Given the description of an element on the screen output the (x, y) to click on. 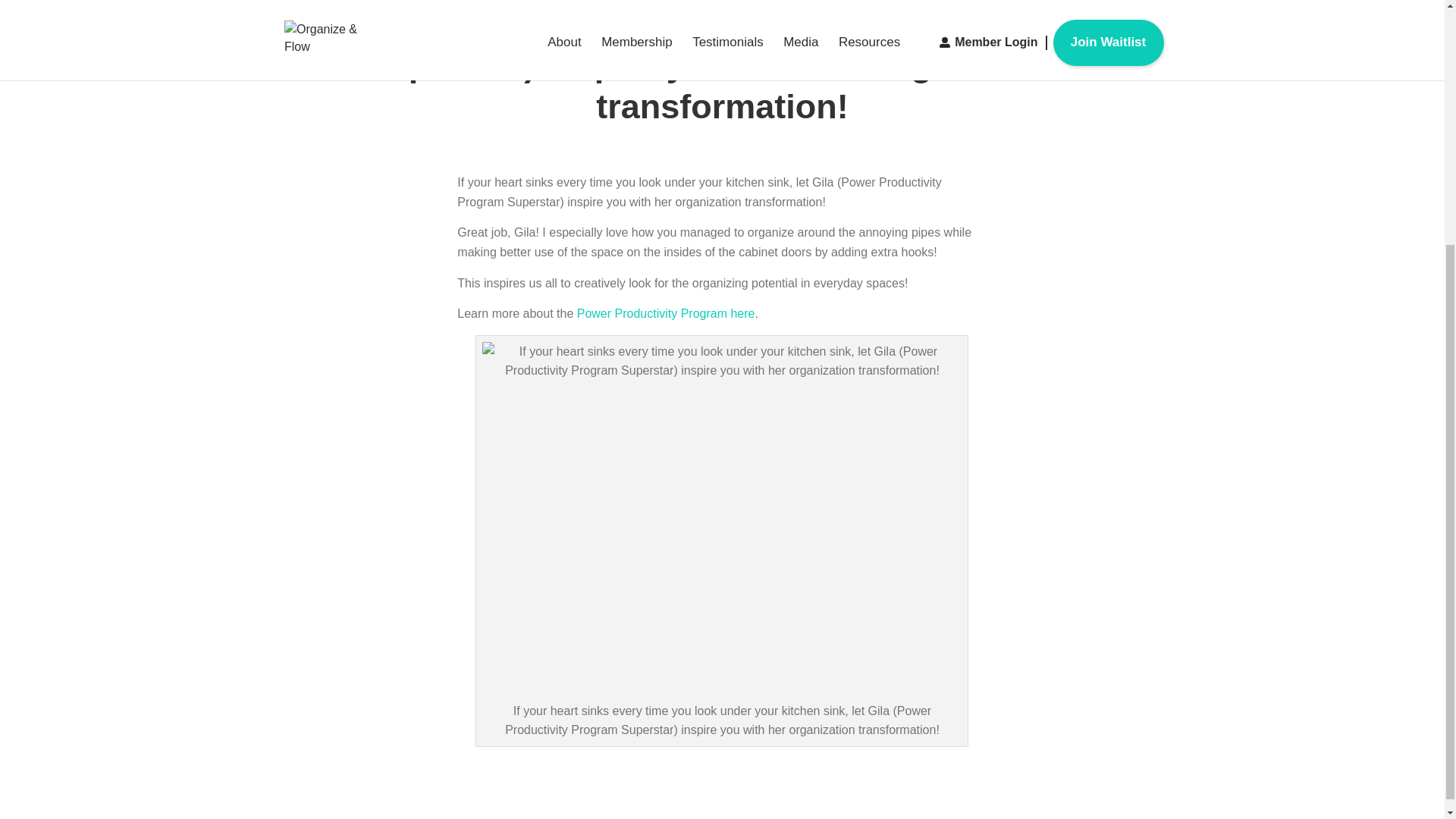
Power Productivity Program here (665, 313)
